Given the description of an element on the screen output the (x, y) to click on. 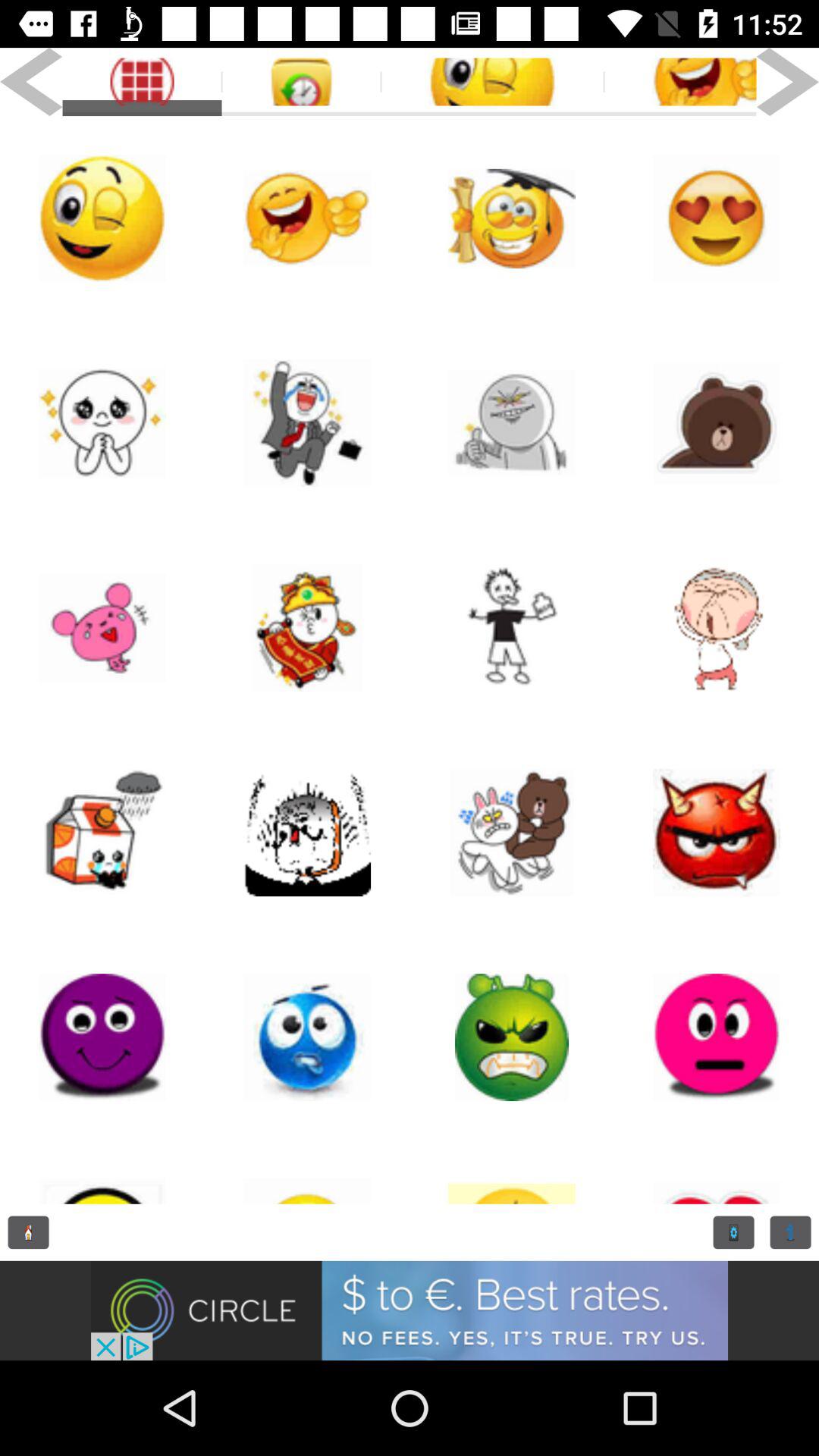
select emoji (102, 422)
